Given the description of an element on the screen output the (x, y) to click on. 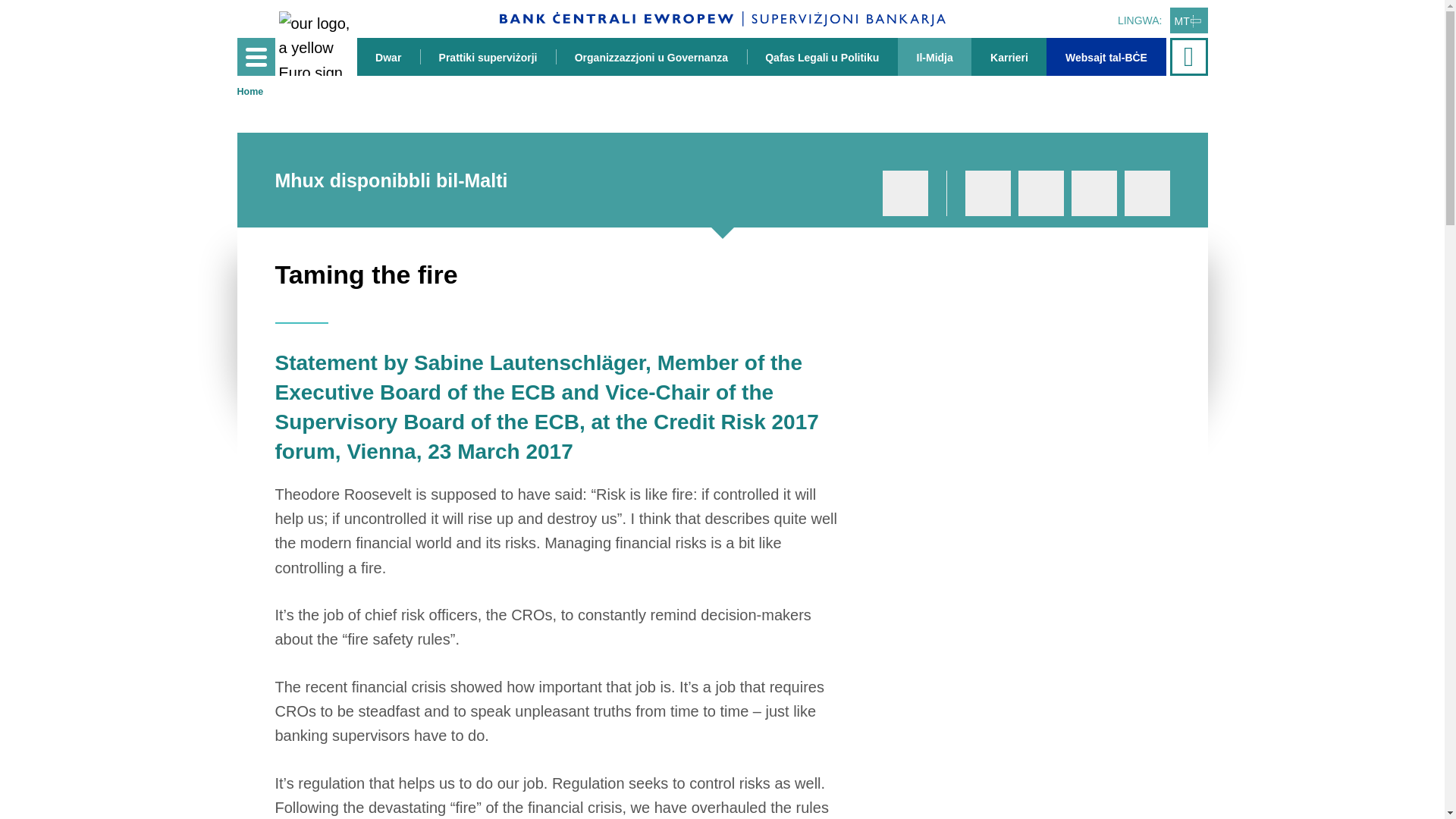
Il-Midja (934, 56)
Organizzazzjoni u Governanza (650, 56)
Home (249, 91)
Menu (255, 56)
Search (1190, 56)
Dwar (387, 56)
Karrieri (1008, 56)
Qafas Legali u Politiku (822, 56)
